Given the description of an element on the screen output the (x, y) to click on. 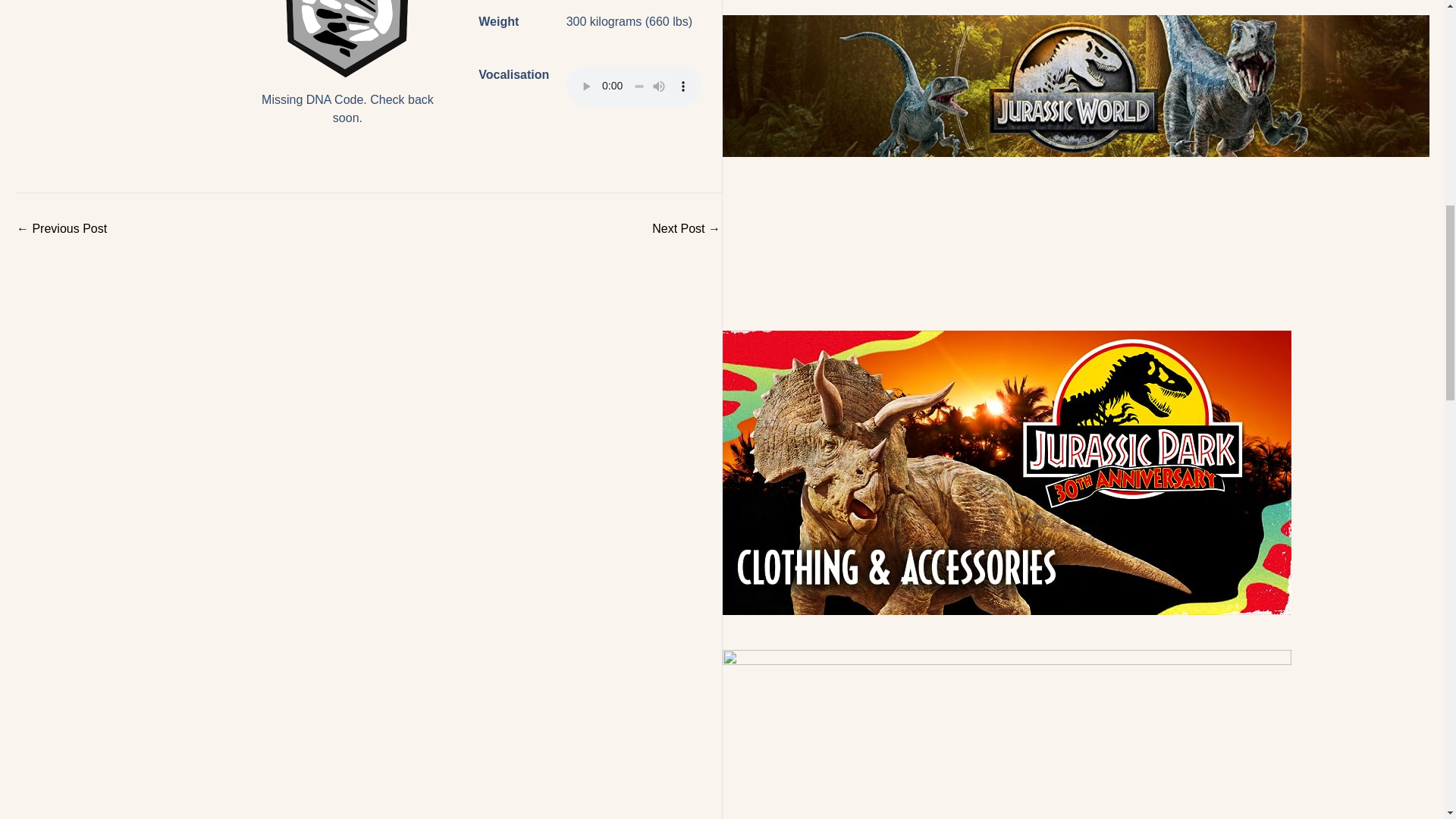
Monolophosaurus (686, 228)
Metriacanthosaurus (61, 228)
Advertisement (1076, 243)
Minmi 1 (347, 40)
